Given the description of an element on the screen output the (x, y) to click on. 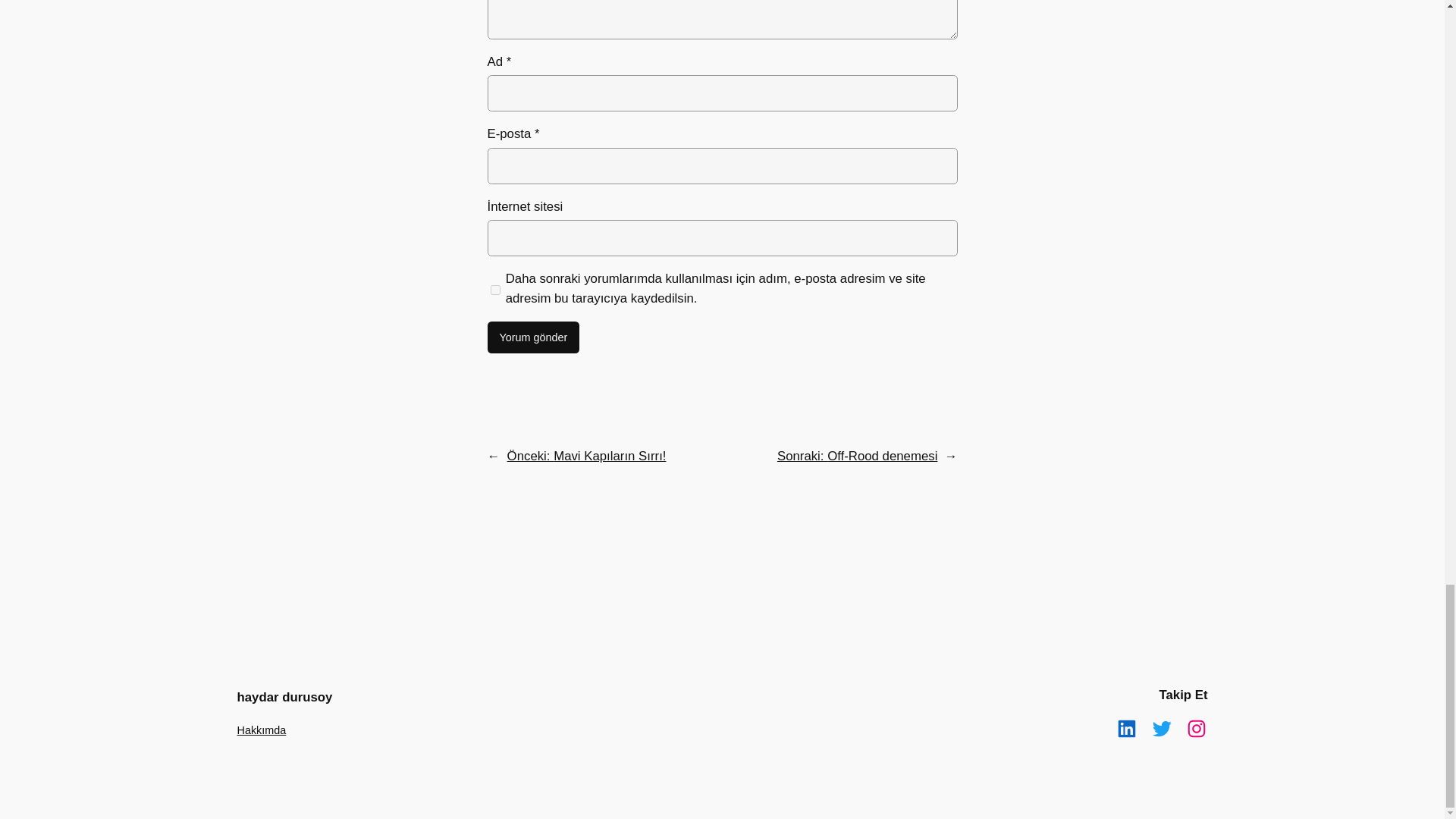
Sonraki: Off-Rood denemesi (857, 455)
Instagram (1196, 728)
haydar durusoy (283, 697)
linkedin (1126, 728)
Twitter (1161, 728)
